Given the description of an element on the screen output the (x, y) to click on. 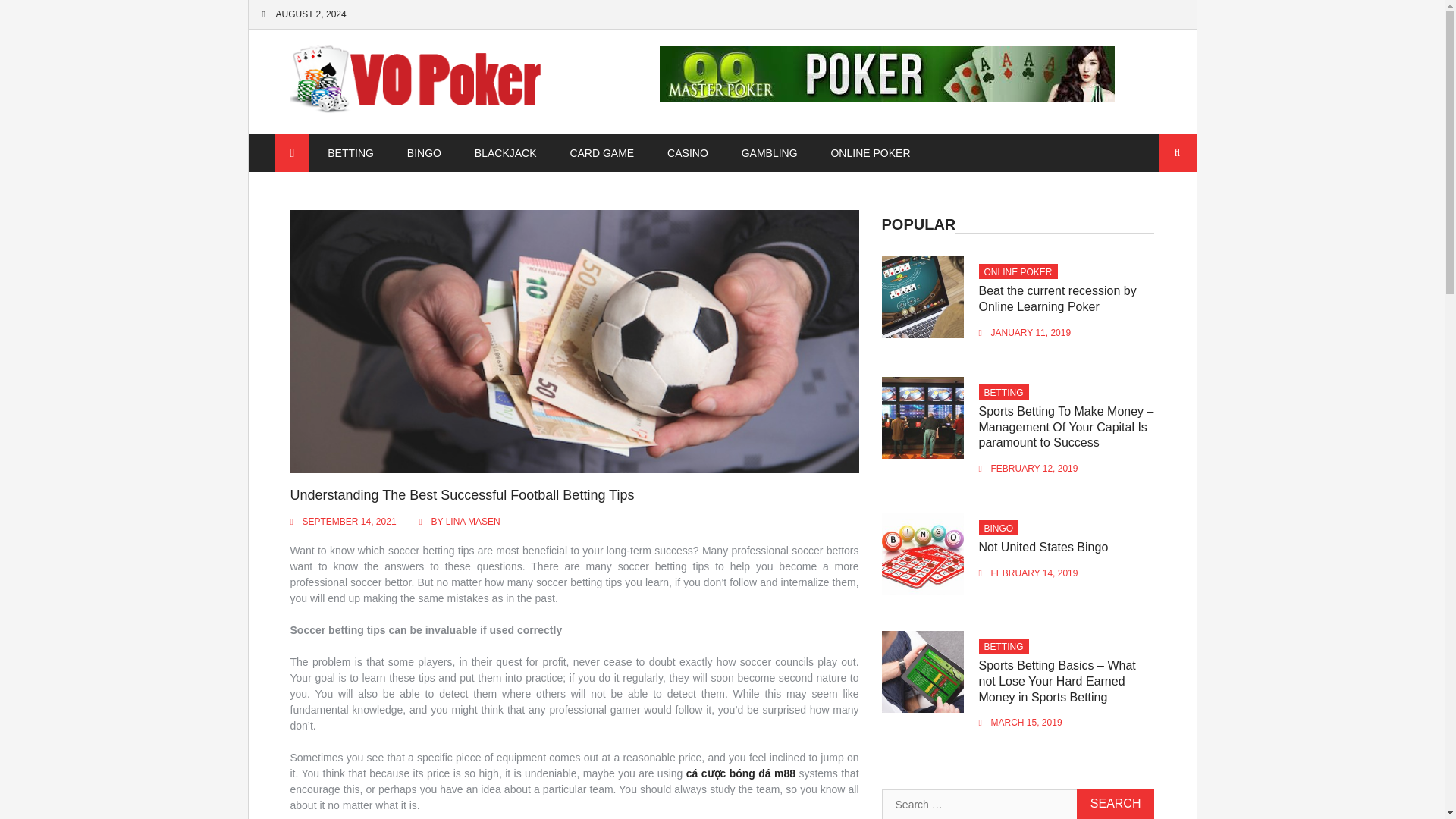
SEPTEMBER 14, 2021 (348, 521)
CARD GAME (601, 153)
BETTING (350, 153)
FEBRUARY 14, 2019 (1034, 573)
Search (1115, 804)
CASINO (687, 153)
Beat the current recession by Online Learning Poker (1057, 298)
BINGO (424, 153)
BINGO (998, 528)
BLACKJACK (505, 153)
GAMBLING (769, 153)
Not United States Bingo (1043, 546)
JANUARY 11, 2019 (1031, 332)
Search (1115, 804)
Search (1177, 152)
